Given the description of an element on the screen output the (x, y) to click on. 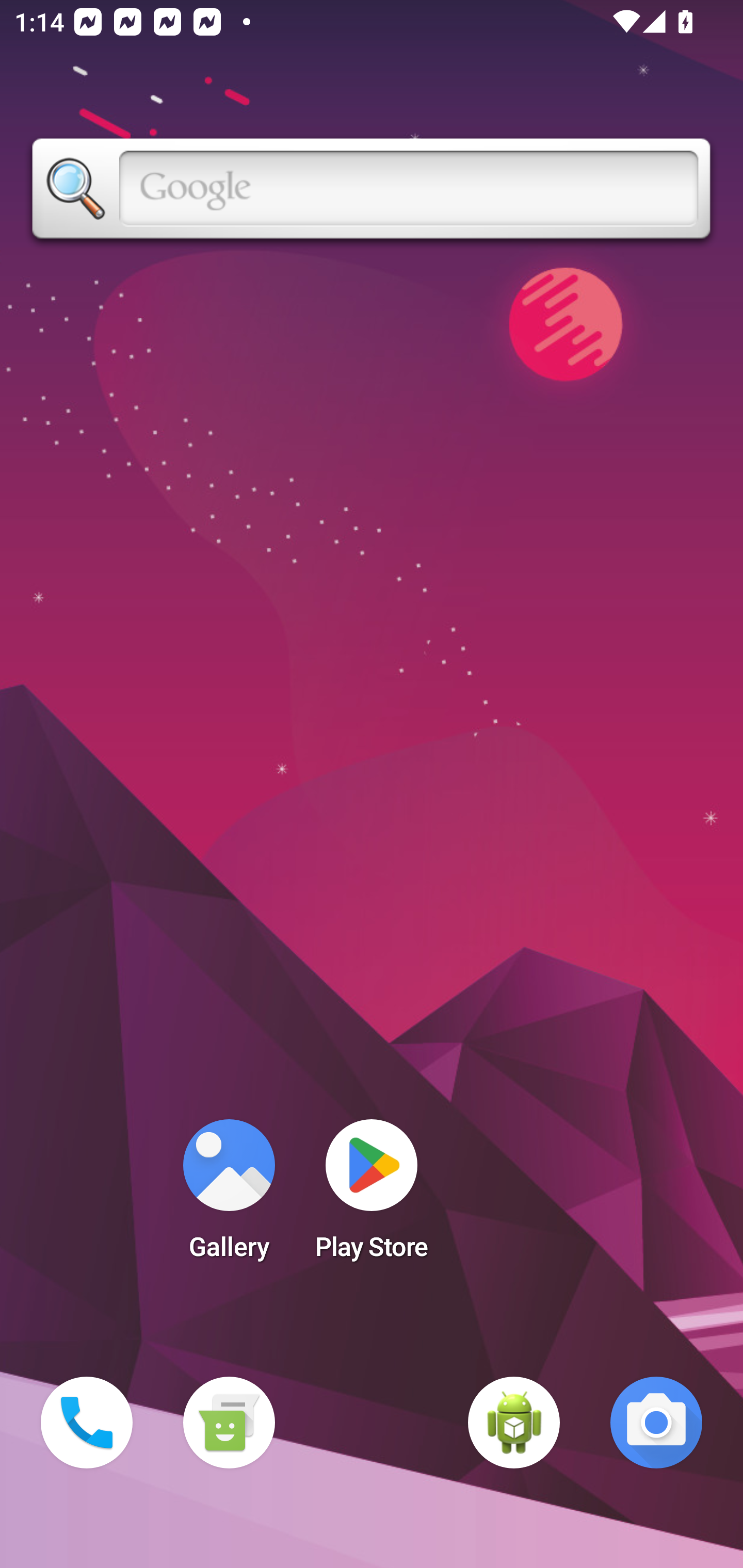
Gallery (228, 1195)
Play Store (371, 1195)
Phone (86, 1422)
Messaging (228, 1422)
WebView Browser Tester (513, 1422)
Camera (656, 1422)
